Given the description of an element on the screen output the (x, y) to click on. 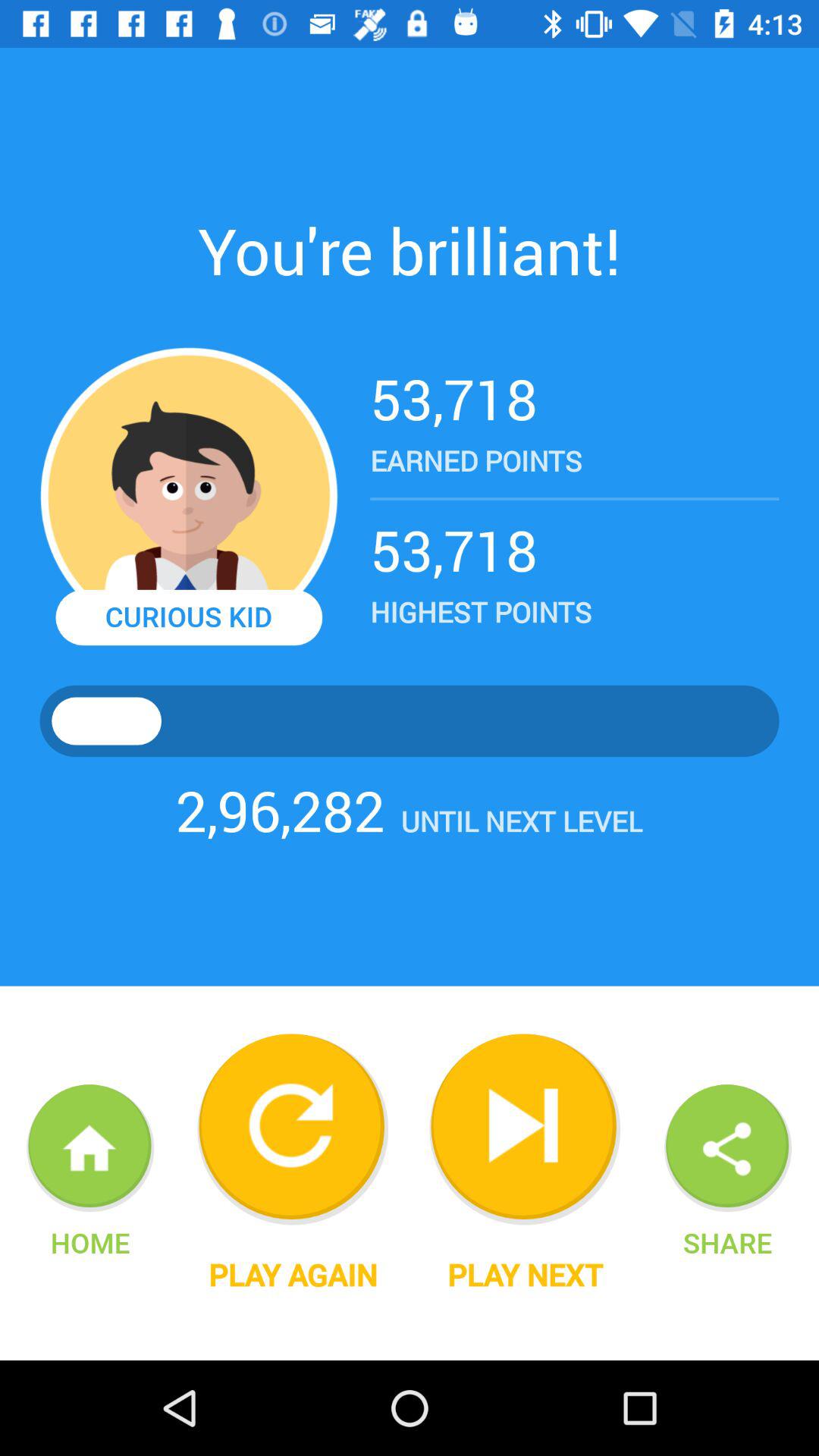
play next level (524, 1129)
